Given the description of an element on the screen output the (x, y) to click on. 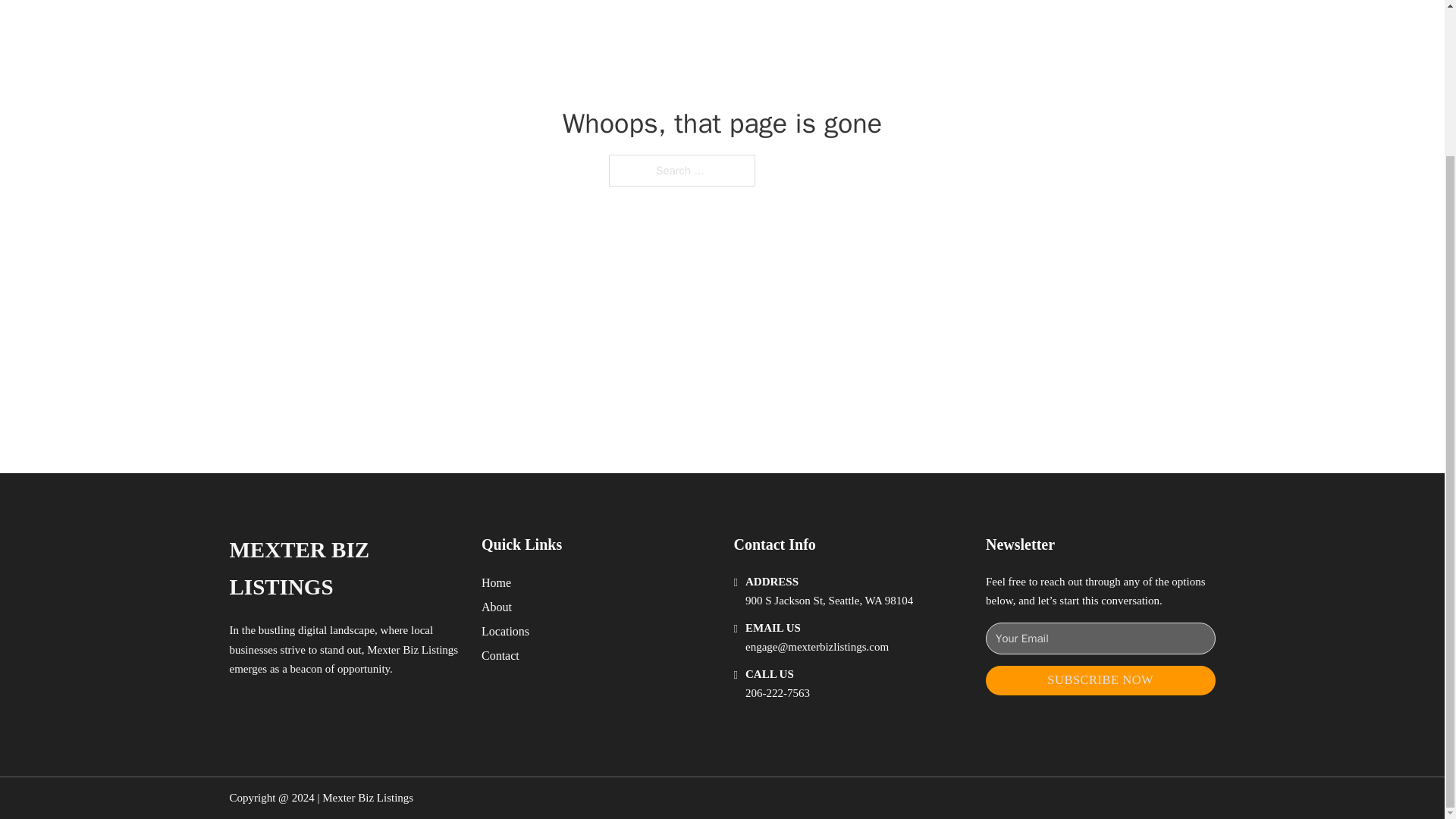
SUBSCRIBE NOW (1100, 680)
About (496, 607)
Contact (500, 655)
MEXTER BIZ LISTINGS (343, 568)
206-222-7563 (777, 693)
Home (496, 582)
Locations (505, 630)
